Given the description of an element on the screen output the (x, y) to click on. 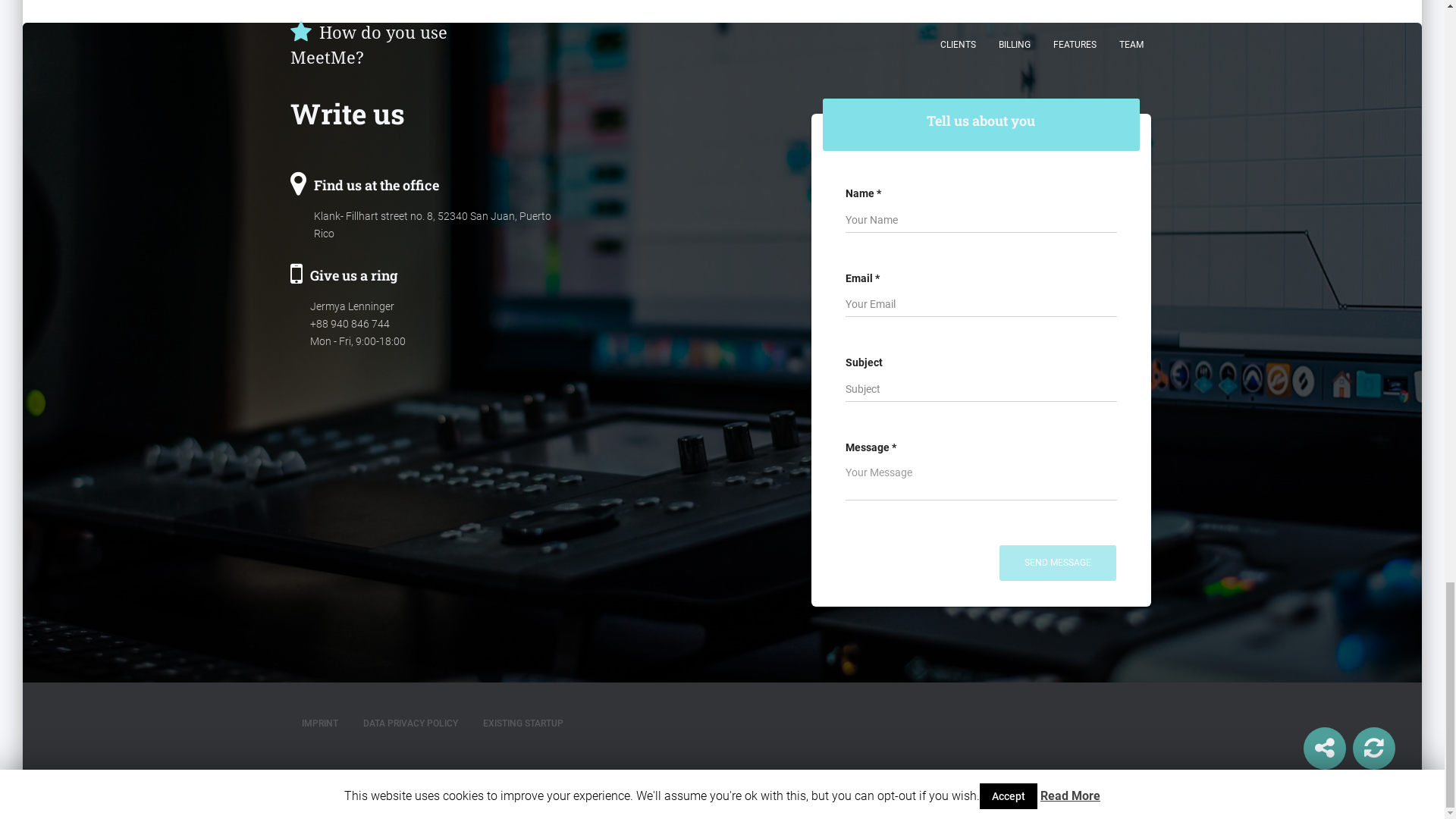
IMPRINT (319, 723)
SEND MESSAGE (1057, 562)
EXISTING STARTUP (523, 723)
DATA PRIVACY POLICY (410, 723)
